Given the description of an element on the screen output the (x, y) to click on. 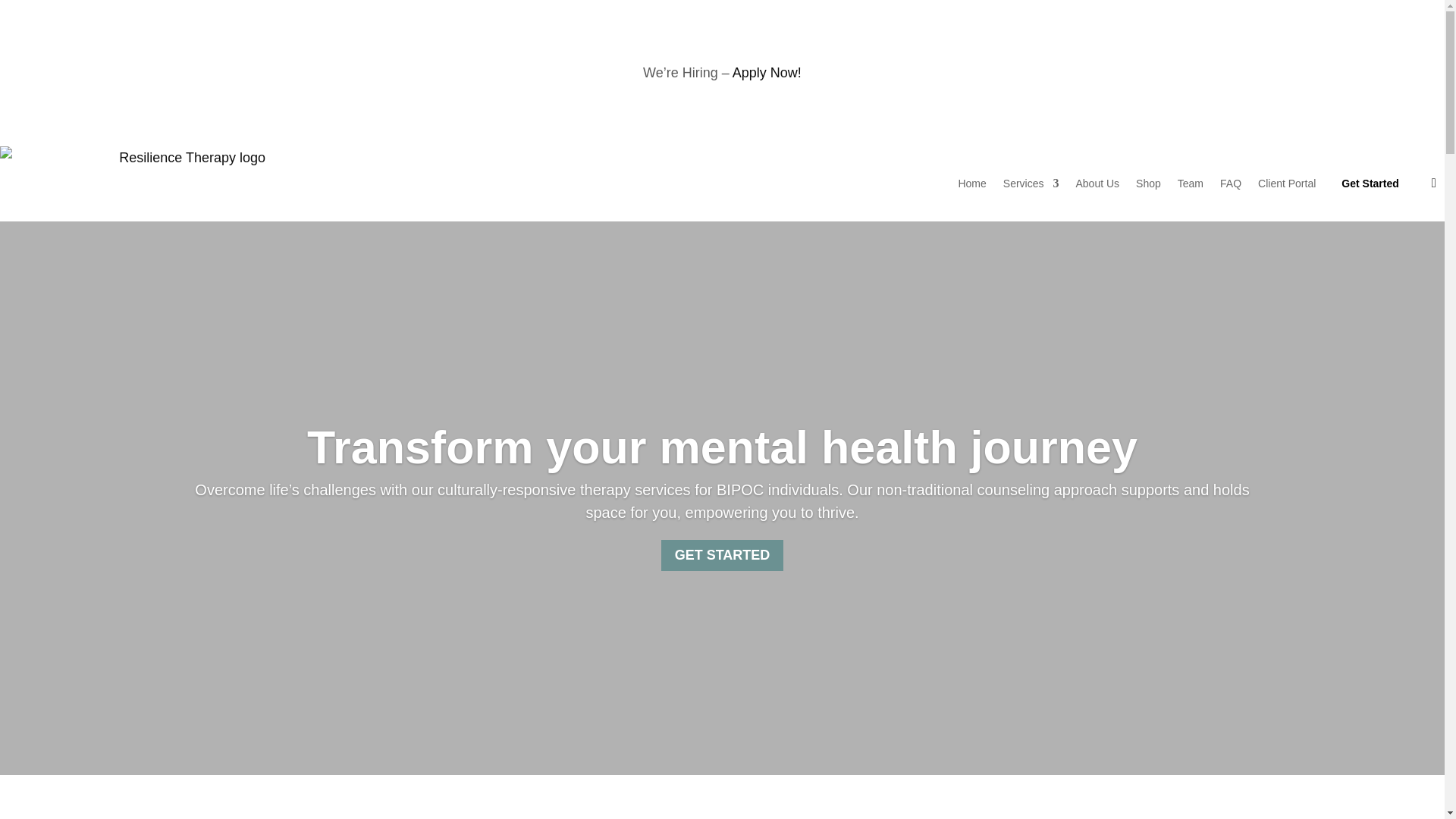
Team (1190, 183)
FAQ (1230, 183)
Client Portal (1286, 183)
About Us (1097, 183)
Get Started (1369, 183)
Apply Now! (767, 72)
Services (1031, 183)
Home (971, 183)
Shop (1147, 183)
